Given the description of an element on the screen output the (x, y) to click on. 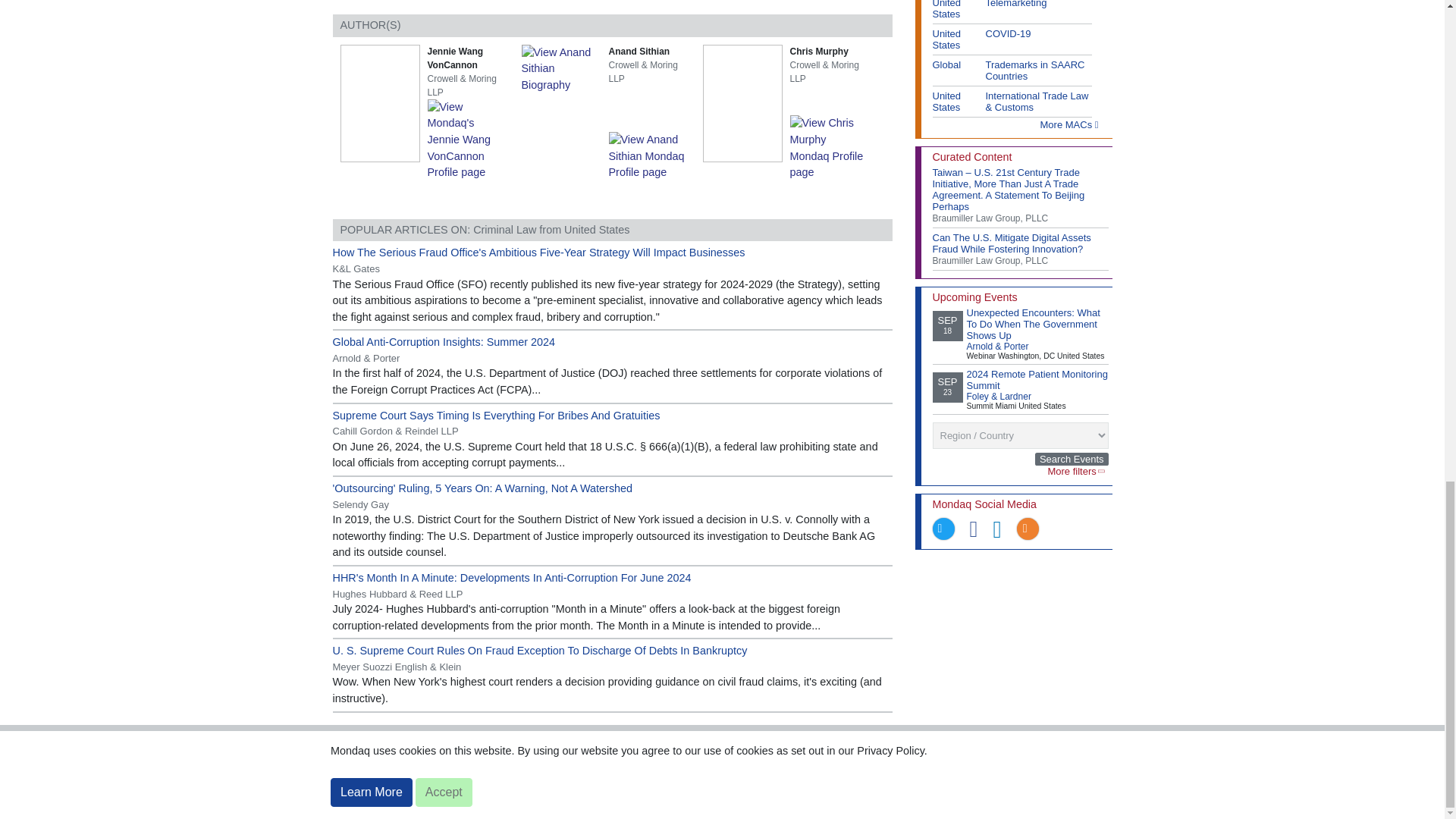
View this authors biography on their website (561, 68)
More from Anand  Sithian (649, 155)
Search Events (1071, 459)
More from Jennie Wang  VonCannon (469, 139)
